Given the description of an element on the screen output the (x, y) to click on. 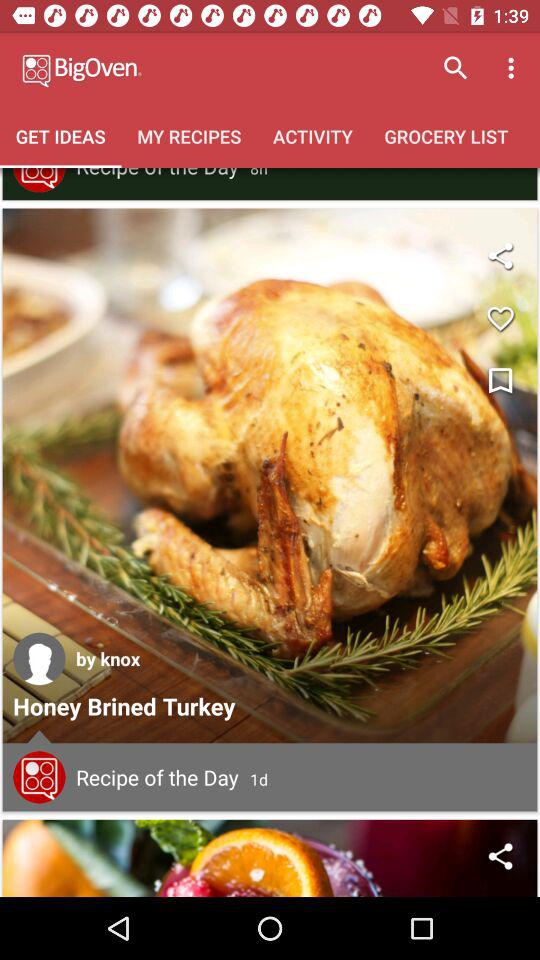
a place to view a recipe which contains orange (269, 858)
